Given the description of an element on the screen output the (x, y) to click on. 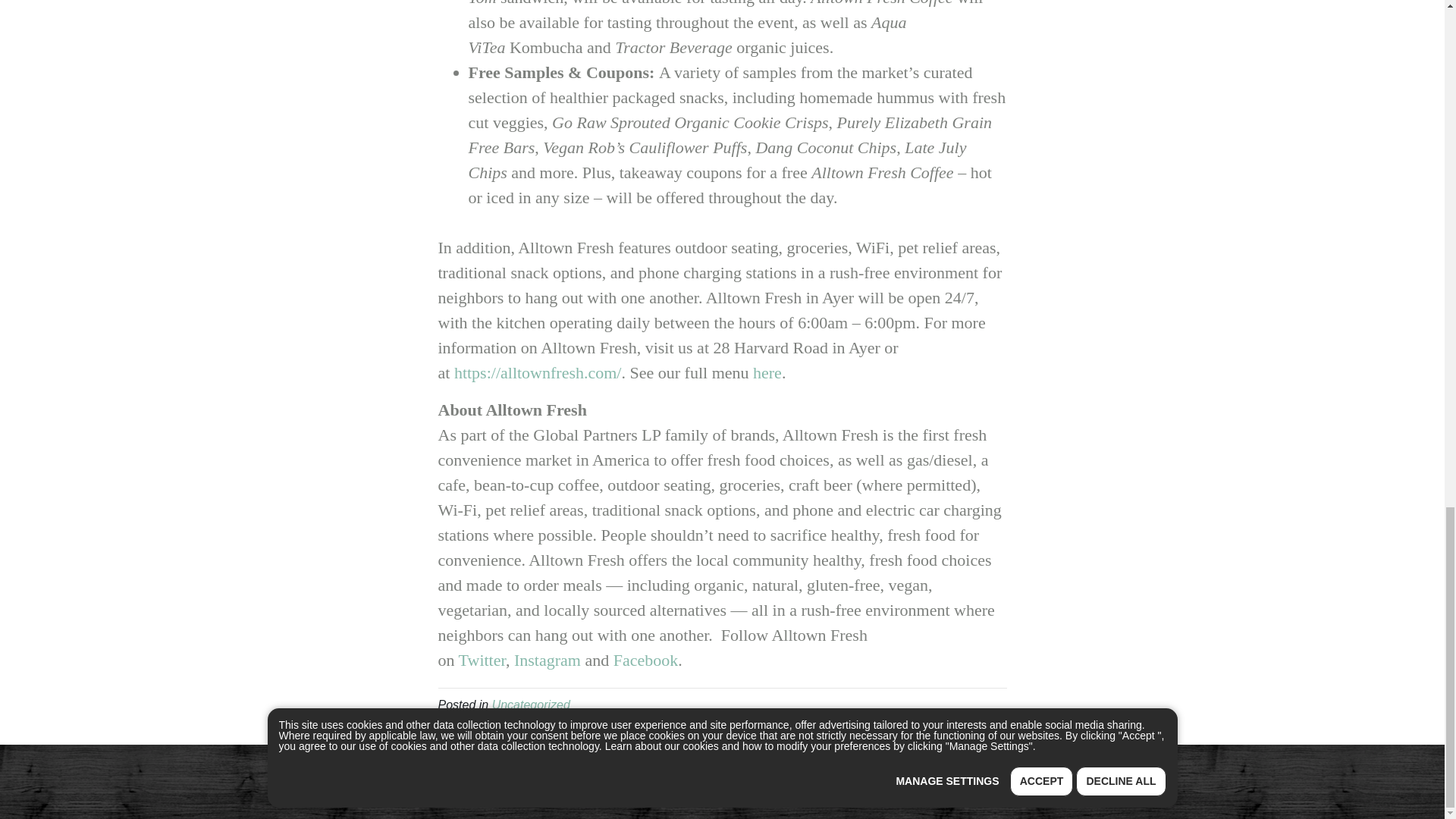
Facebook (645, 659)
Twitter (481, 659)
here (766, 372)
Instagram (546, 659)
